Given the description of an element on the screen output the (x, y) to click on. 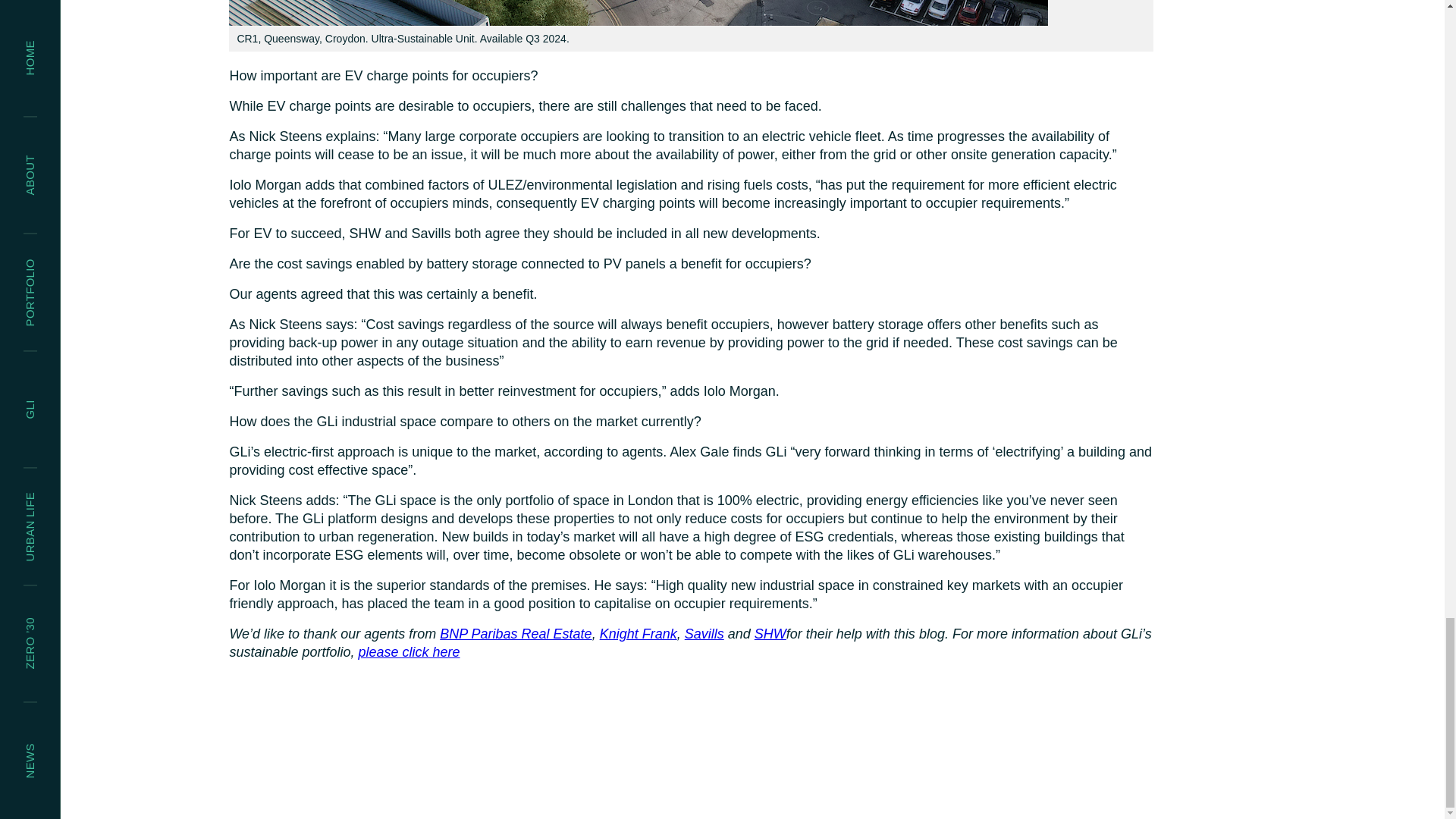
Savills (703, 633)
SHW (770, 633)
BNP Paribas Real Estate (515, 633)
Knight Frank (638, 633)
please click here (409, 652)
